Given the description of an element on the screen output the (x, y) to click on. 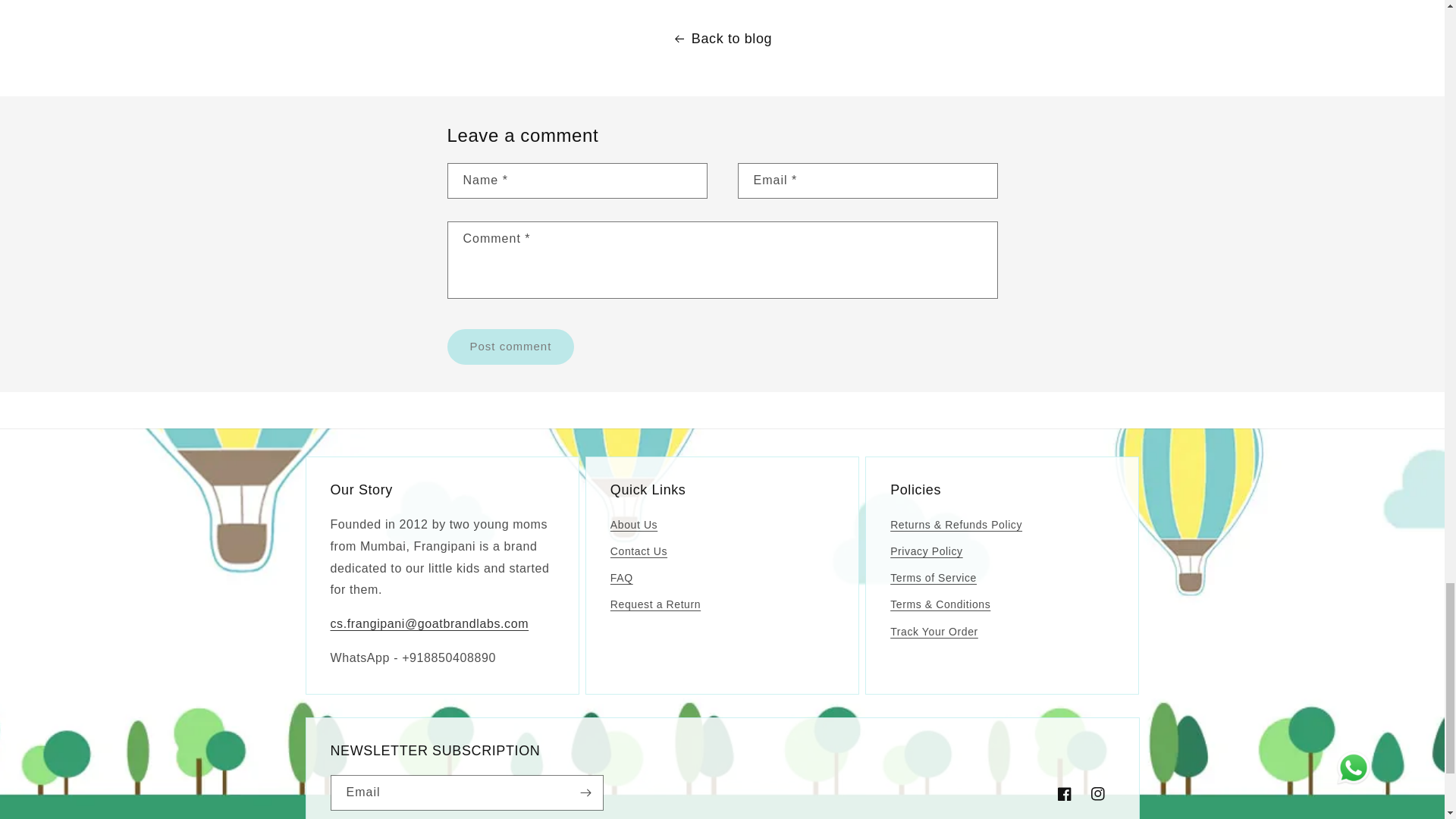
Post comment (510, 346)
